Given the description of an element on the screen output the (x, y) to click on. 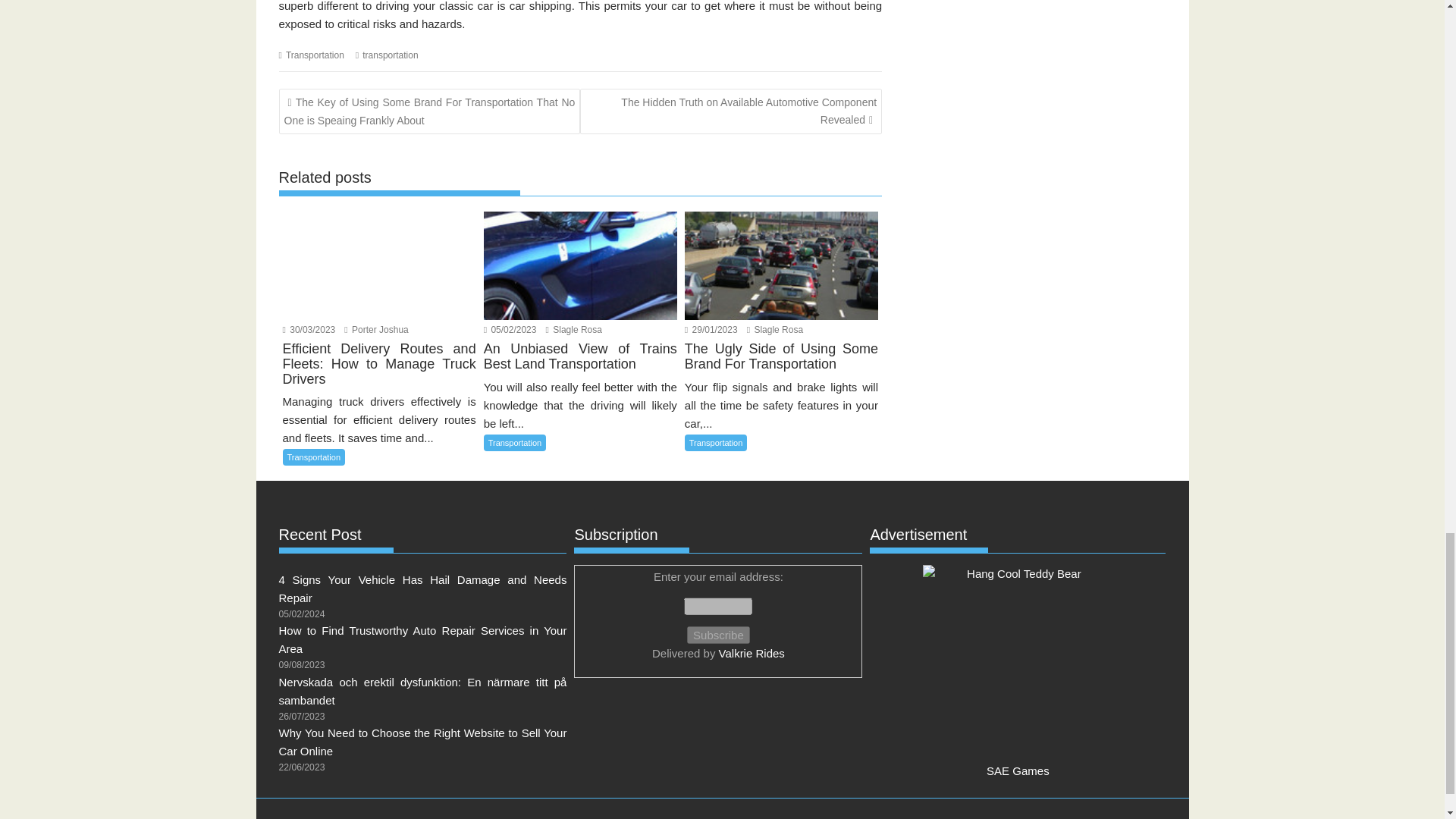
Slagle Rosa (774, 329)
Slagle Rosa (574, 329)
Transportation (515, 442)
Porter Joshua (375, 329)
transportation (389, 54)
Transportation (313, 457)
The Hidden Truth on Available Automotive Component Revealed (730, 111)
Slagle Rosa (774, 329)
